Given the description of an element on the screen output the (x, y) to click on. 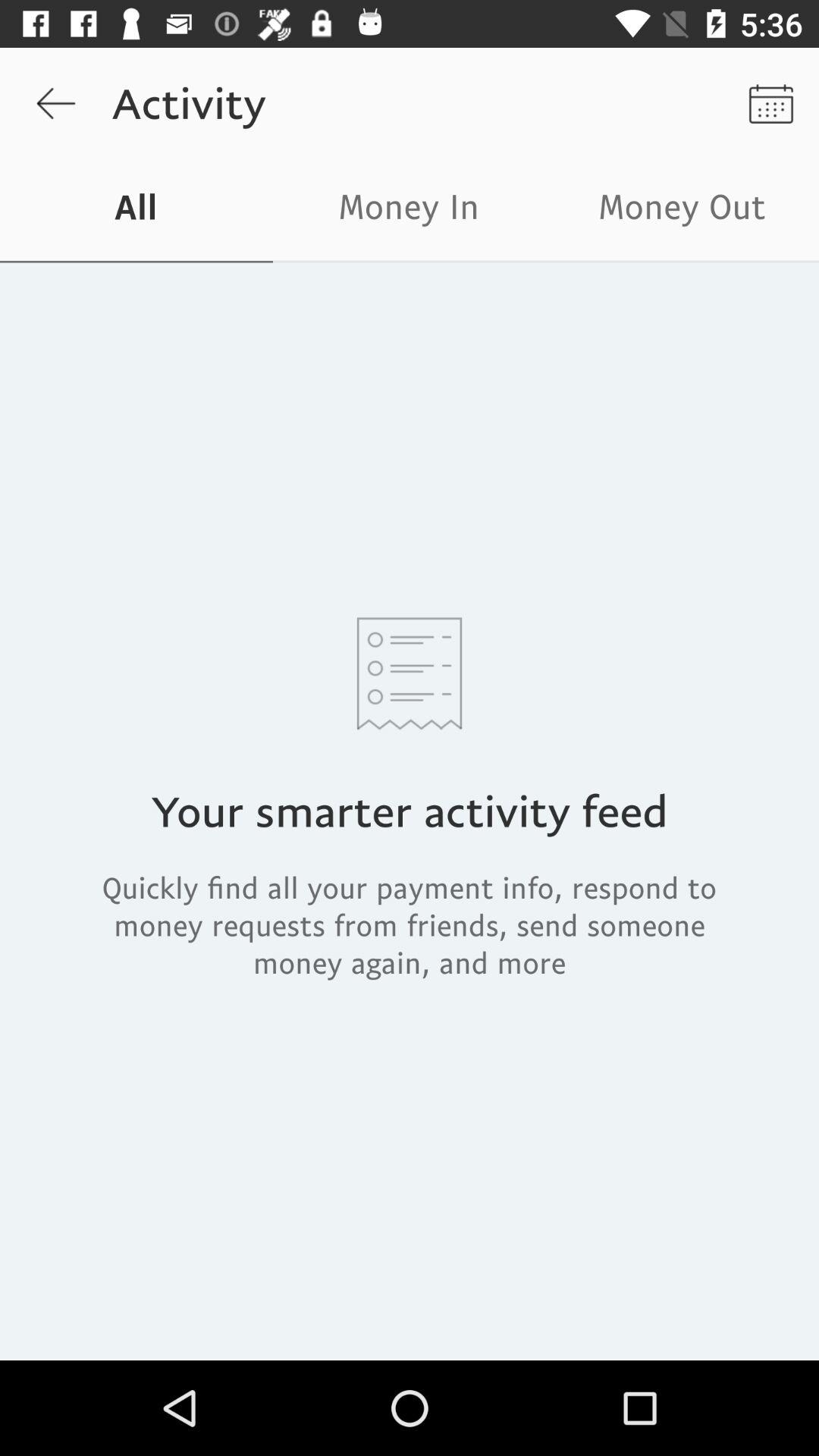
jump until money in icon (409, 210)
